Given the description of an element on the screen output the (x, y) to click on. 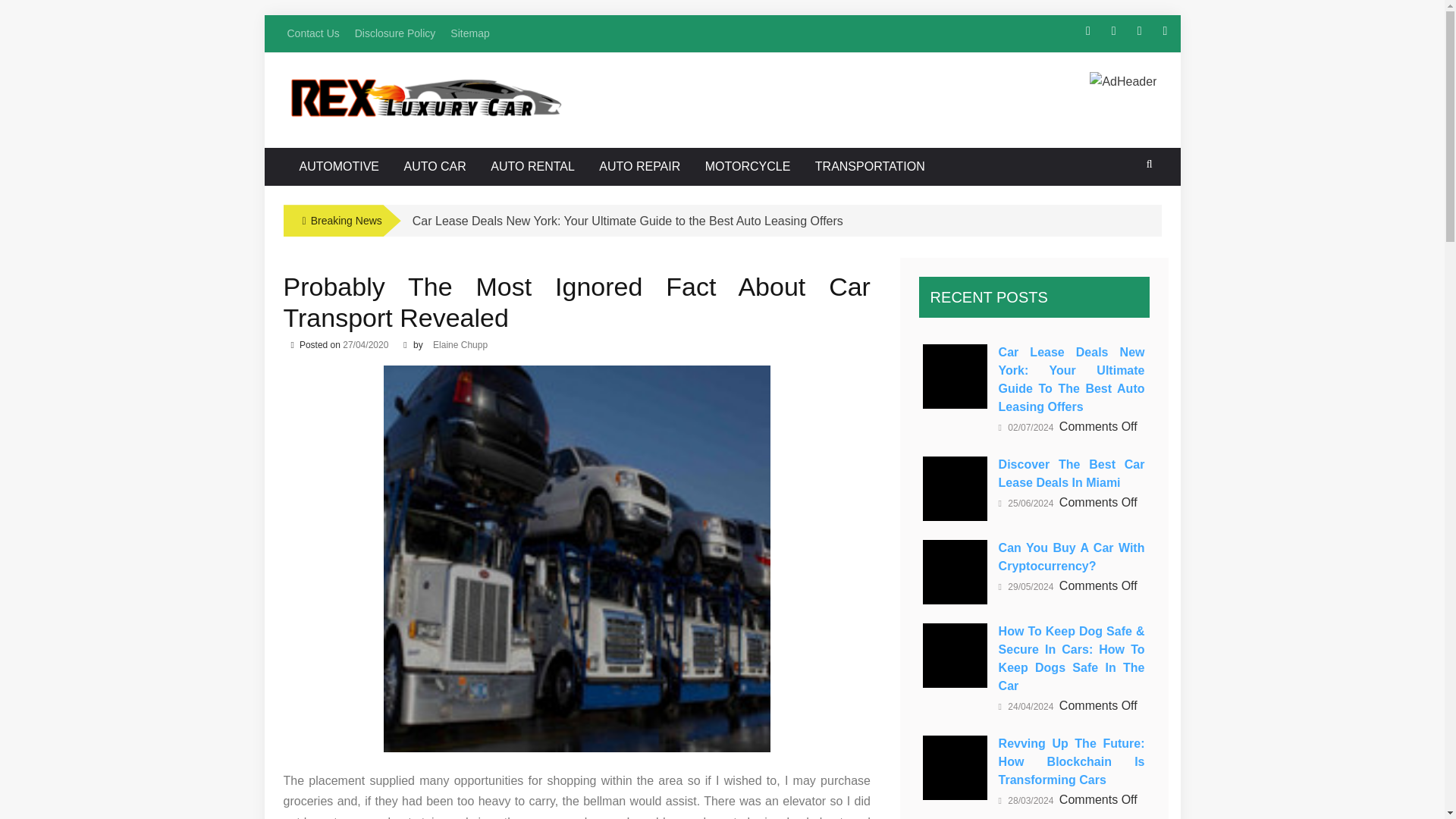
AUTO REPAIR (639, 166)
Sitemap (469, 33)
TRANSPORTATION (869, 166)
Revving Up the Future: How Blockchain is Transforming Cars (955, 767)
Can You Buy A Car With Cryptocurrency? (955, 571)
AUTO CAR (434, 166)
Elaine Chupp (459, 344)
REX AUTOMOTIVE (416, 101)
